Given the description of an element on the screen output the (x, y) to click on. 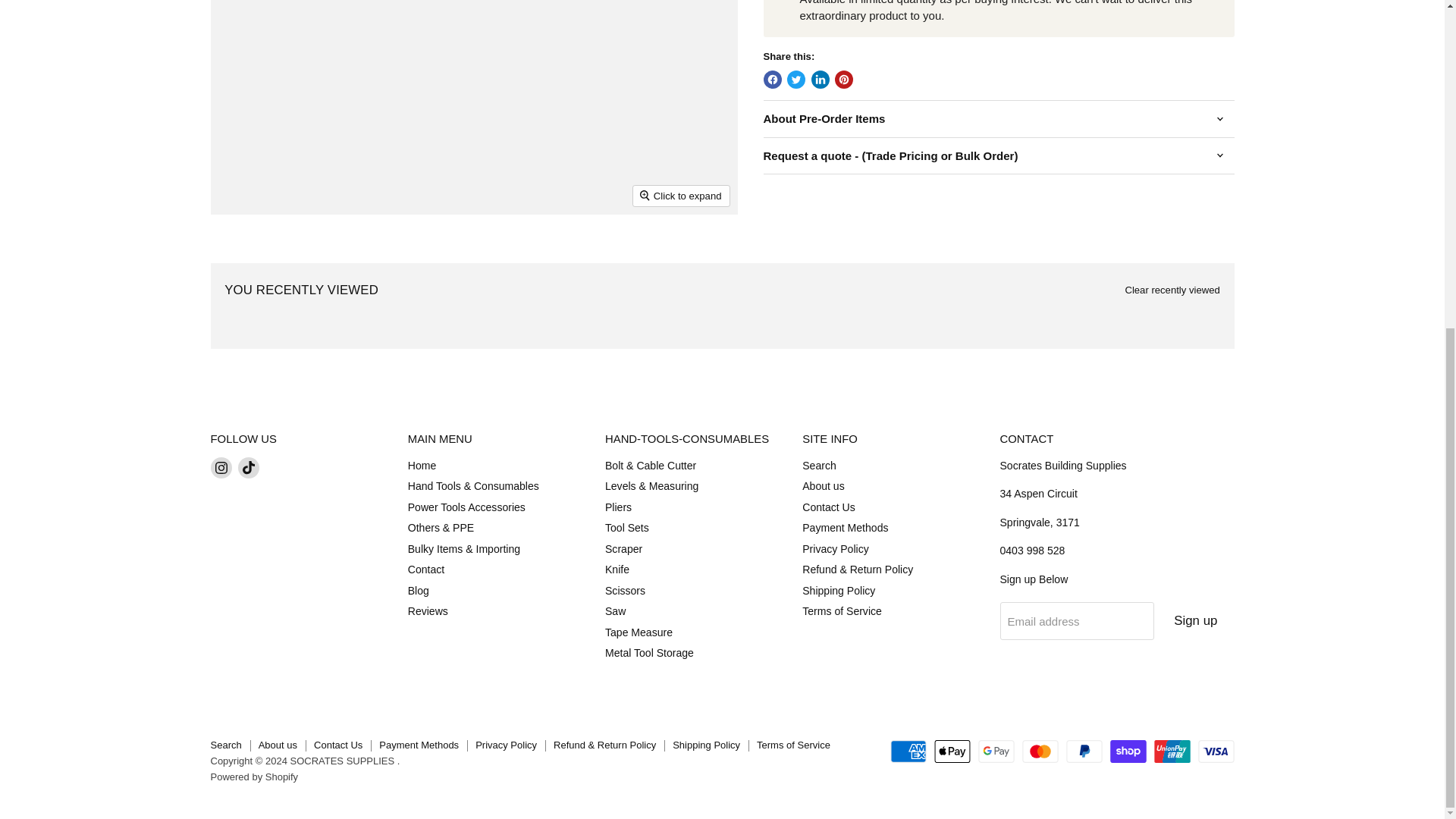
Instagram (221, 467)
TikTok (248, 467)
